Given the description of an element on the screen output the (x, y) to click on. 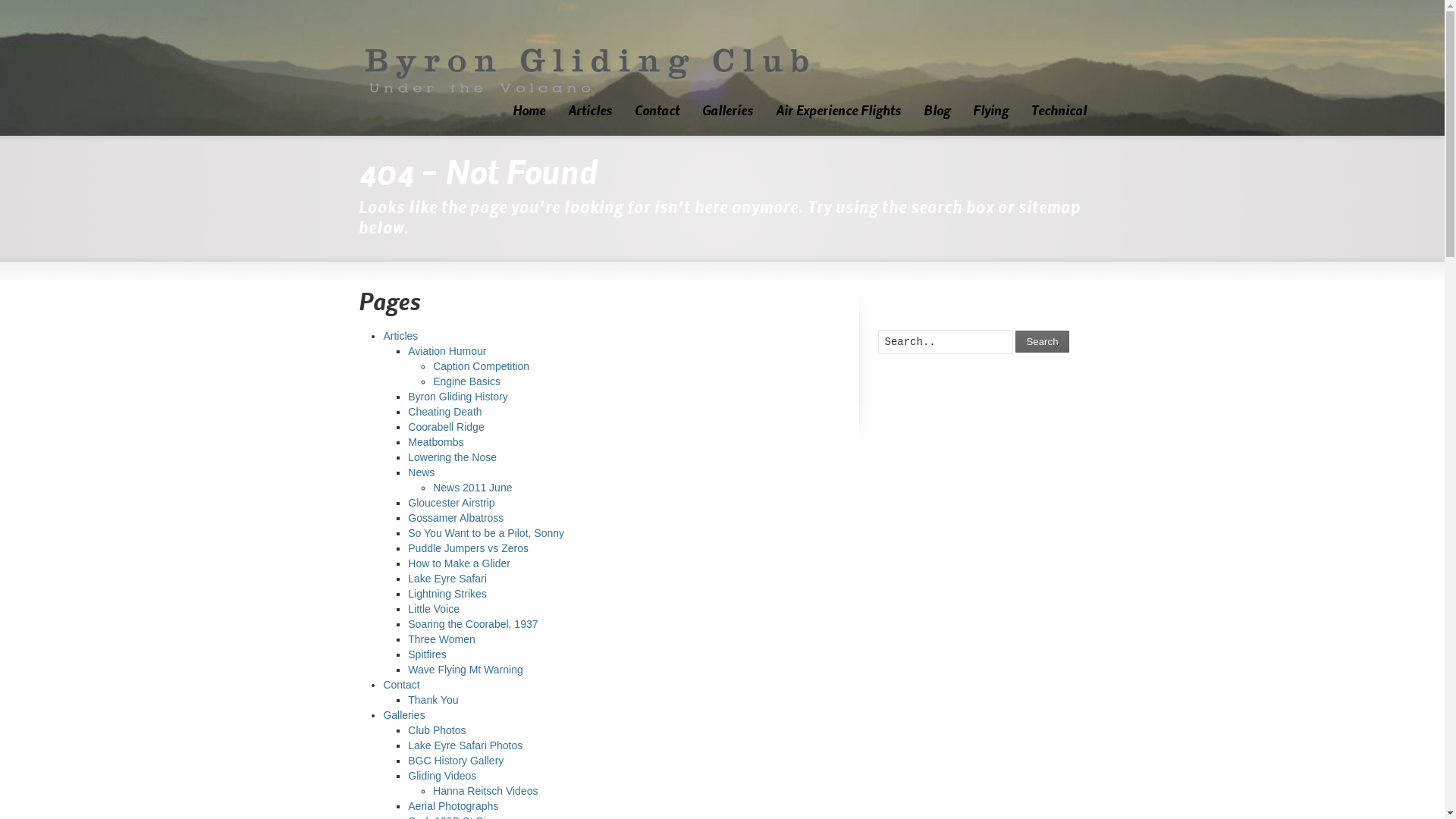
Aerial Photographs Element type: text (452, 806)
So You Want to be a Pilot, Sonny Element type: text (485, 533)
Aviation Humour Element type: text (446, 351)
Puddle Jumpers vs Zeros Element type: text (467, 548)
BGC History Gallery Element type: text (455, 760)
Wave Flying Mt Warning Element type: text (464, 669)
Flying Element type: text (990, 112)
Byron Gliding History Element type: text (457, 396)
Galleries Element type: text (726, 112)
Lightning Strikes Element type: text (446, 593)
Coorabell Ridge Element type: text (445, 426)
Engine Basics Element type: text (466, 381)
Lake Eyre Safari Photos Element type: text (464, 745)
Spitfires Element type: text (426, 654)
Caption Competition Element type: text (481, 366)
Little Voice Element type: text (433, 608)
Galleries Element type: text (403, 715)
News 2011 June Element type: text (472, 487)
Hanna Reitsch Videos Element type: text (485, 790)
Cheating Death Element type: text (444, 411)
Gloucester Airstrip Element type: text (450, 502)
Articles Element type: text (589, 112)
Lake Eyre Safari Element type: text (446, 578)
Search Element type: text (1041, 341)
Home Element type: text (527, 112)
Articles Element type: text (399, 335)
Contact Element type: text (656, 112)
News Element type: text (420, 472)
Blog Element type: text (935, 112)
Gliding Videos Element type: text (441, 775)
Lowering the Nose Element type: text (451, 457)
Three Women Element type: text (440, 639)
Thank You Element type: text (432, 699)
Gossamer Albatross Element type: text (455, 517)
Club Photos Element type: text (436, 730)
Air Experience Flights Element type: text (838, 112)
Meatbombs Element type: text (435, 442)
Contact Element type: text (400, 684)
Soaring the Coorabel, 1937 Element type: text (472, 624)
How to Make a Glider Element type: text (458, 563)
Technical Element type: text (1058, 112)
